Given the description of an element on the screen output the (x, y) to click on. 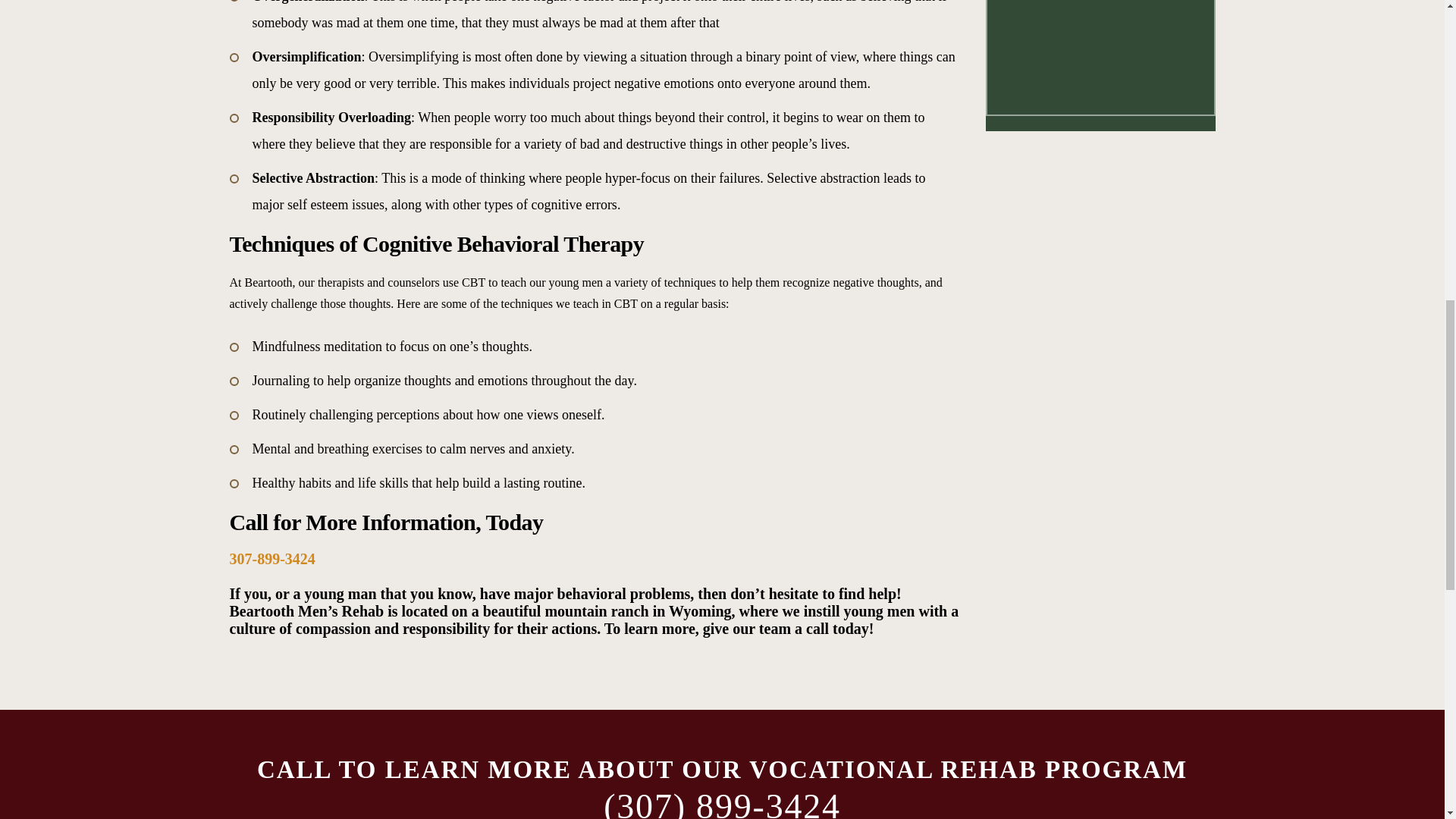
307-899-3424 (271, 558)
Responsibility (292, 117)
